Given the description of an element on the screen output the (x, y) to click on. 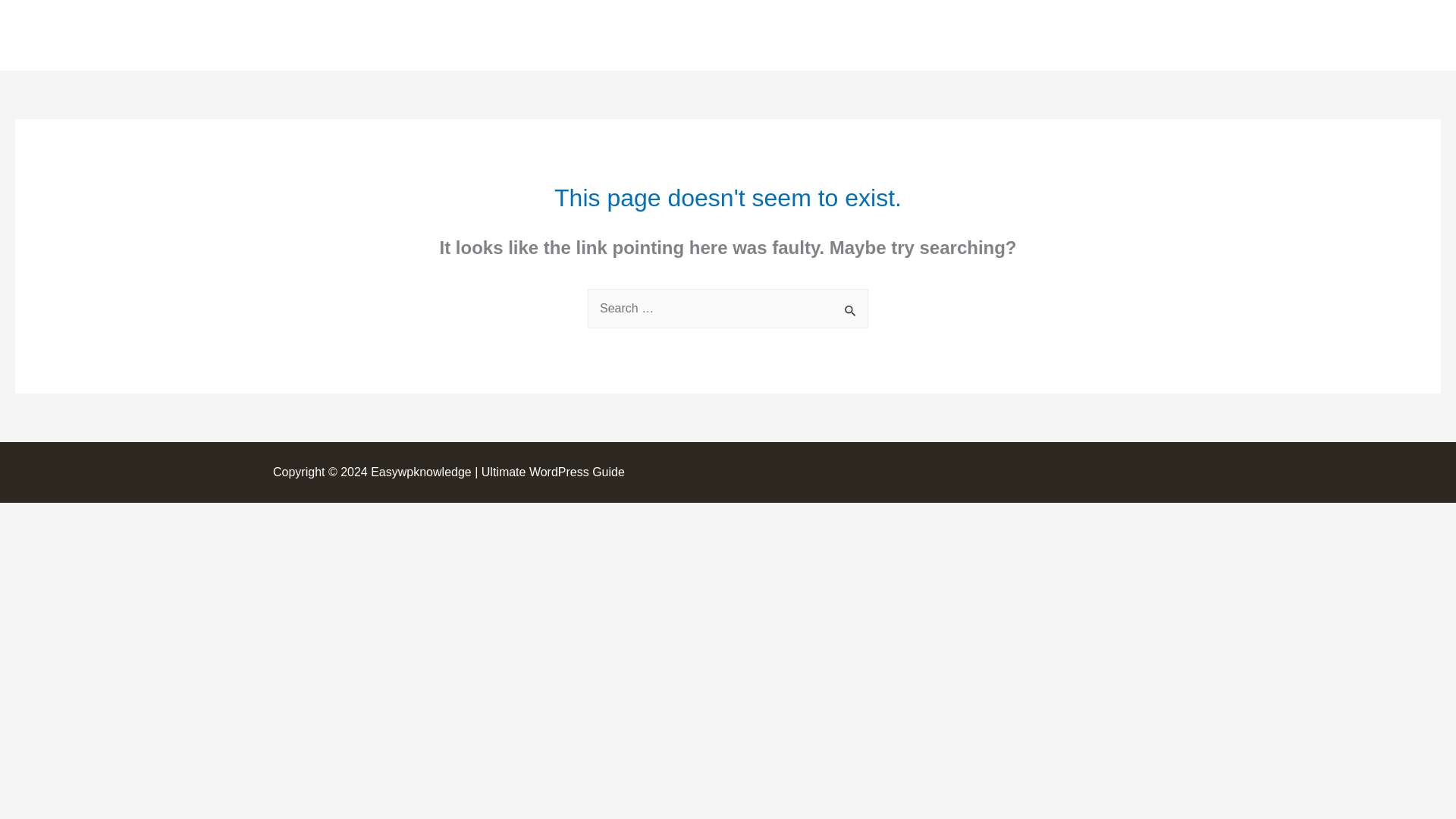
Plugins (1101, 35)
Start Now (827, 35)
Tutorials (957, 35)
Themes (1031, 35)
Programming (1188, 35)
